Given the description of an element on the screen output the (x, y) to click on. 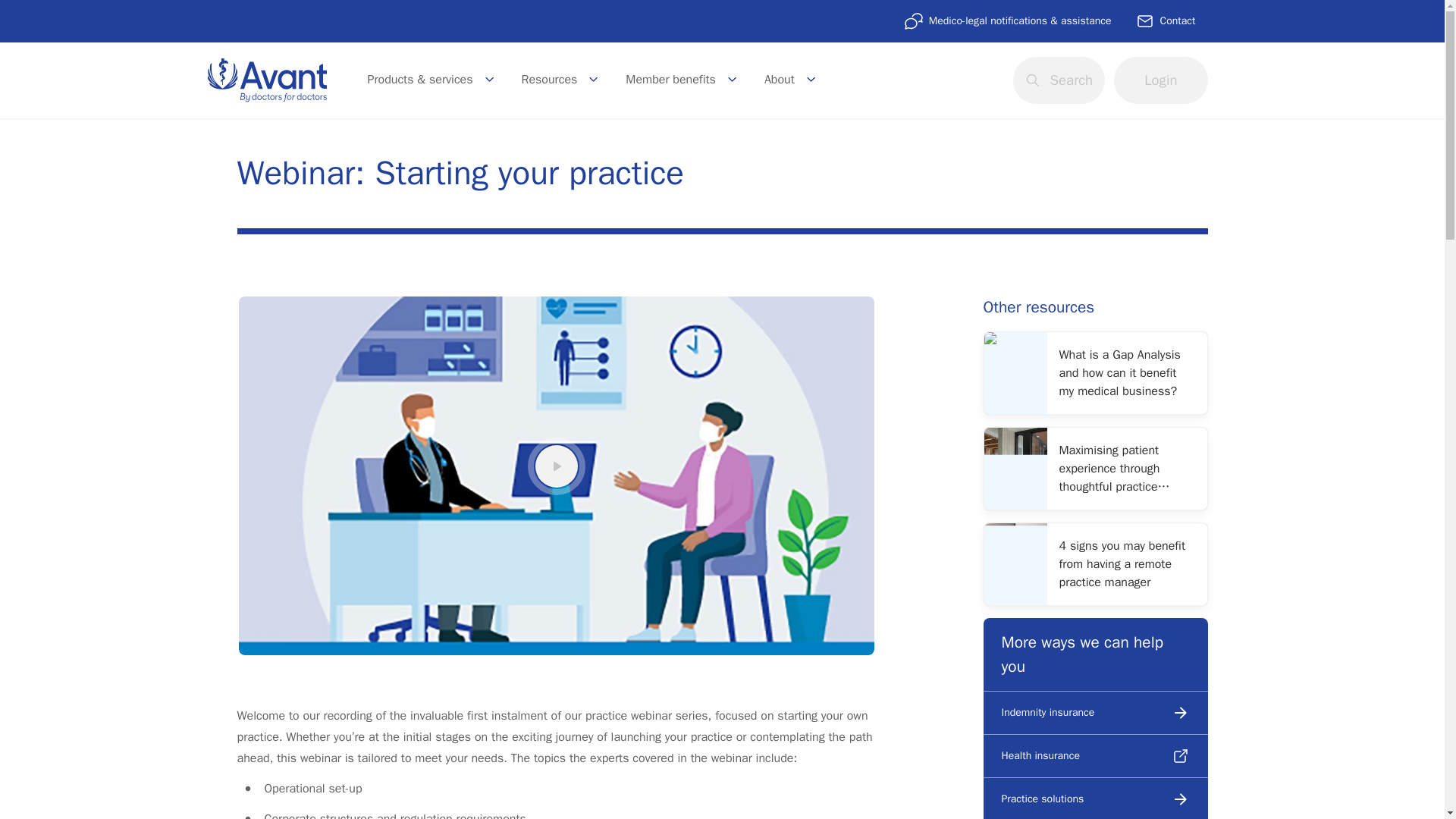
Member benefits (682, 79)
Resources (561, 79)
Home (266, 79)
Contact (1165, 21)
